Given the description of an element on the screen output the (x, y) to click on. 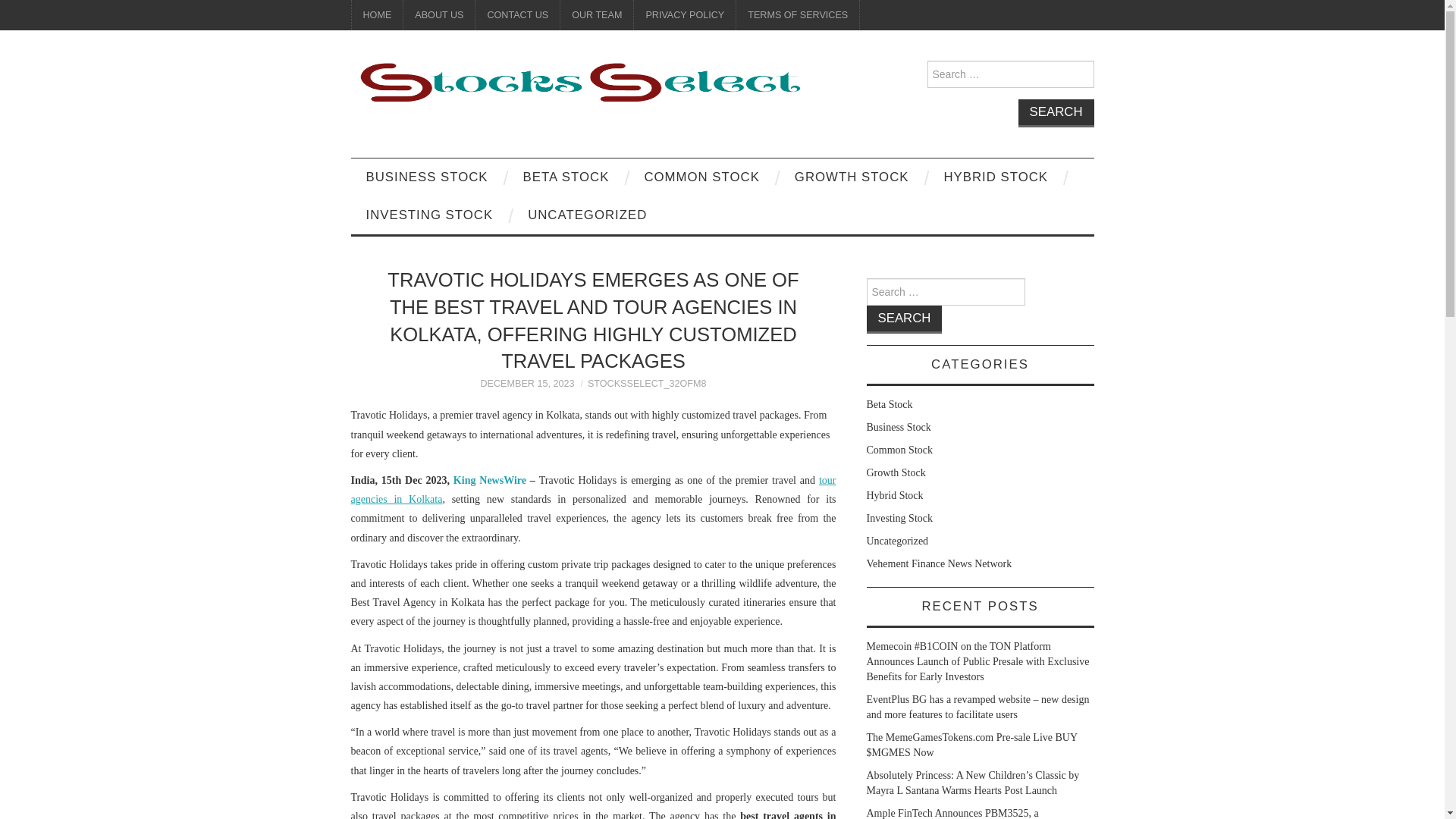
HYBRID STOCK (995, 177)
OUR TEAM (596, 15)
Growth Stock (895, 472)
BETA STOCK (566, 177)
Search (1055, 113)
INVESTING STOCK (429, 215)
Stocks Select (577, 81)
COMMON STOCK (701, 177)
CONTACT US (517, 15)
Search (904, 319)
BUSINESS STOCK (426, 177)
PRIVACY POLICY (684, 15)
Search for: (945, 291)
Common Stock (899, 449)
Search (1055, 113)
